Given the description of an element on the screen output the (x, y) to click on. 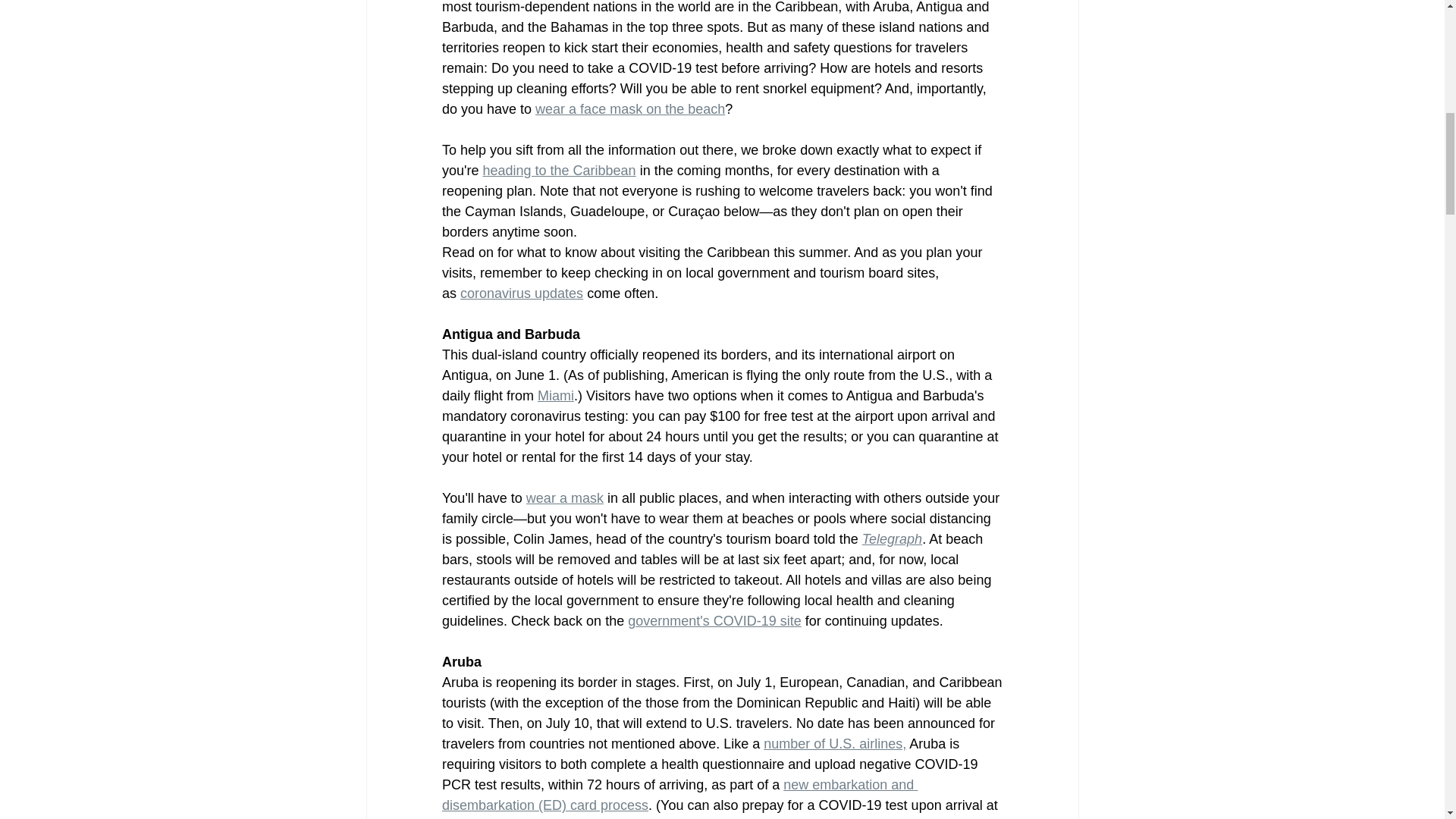
heading to the Caribbean (557, 170)
wear a mask (563, 498)
Telegraph (891, 539)
government's COVID-19 site (714, 620)
Miami (555, 395)
coronavirus updates (521, 293)
number of U.S. airlines, (833, 743)
wear a face mask on the beach (630, 109)
